Given the description of an element on the screen output the (x, y) to click on. 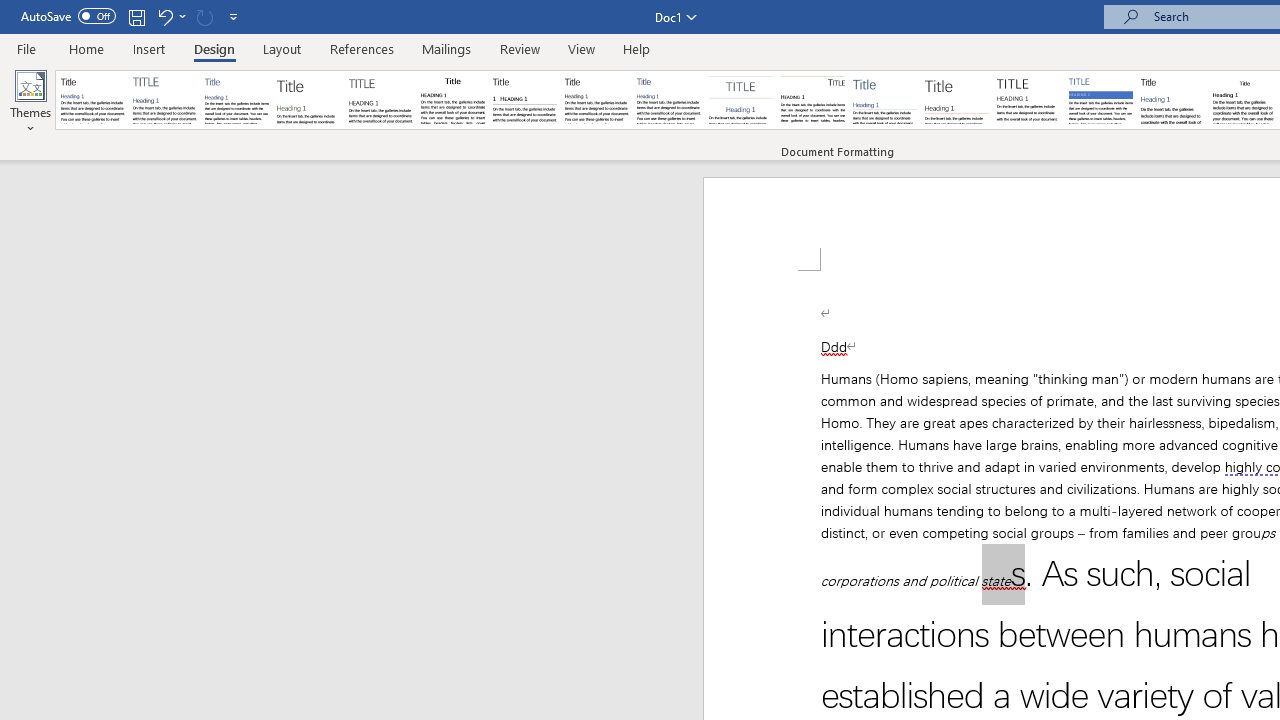
Lines (Distinctive) (812, 100)
Black & White (Classic) (452, 100)
Casual (669, 100)
Can't Repeat (204, 15)
Lines (Stylish) (957, 100)
Black & White (Word 2013) (596, 100)
Basic (Simple) (236, 100)
Word (1172, 100)
